Given the description of an element on the screen output the (x, y) to click on. 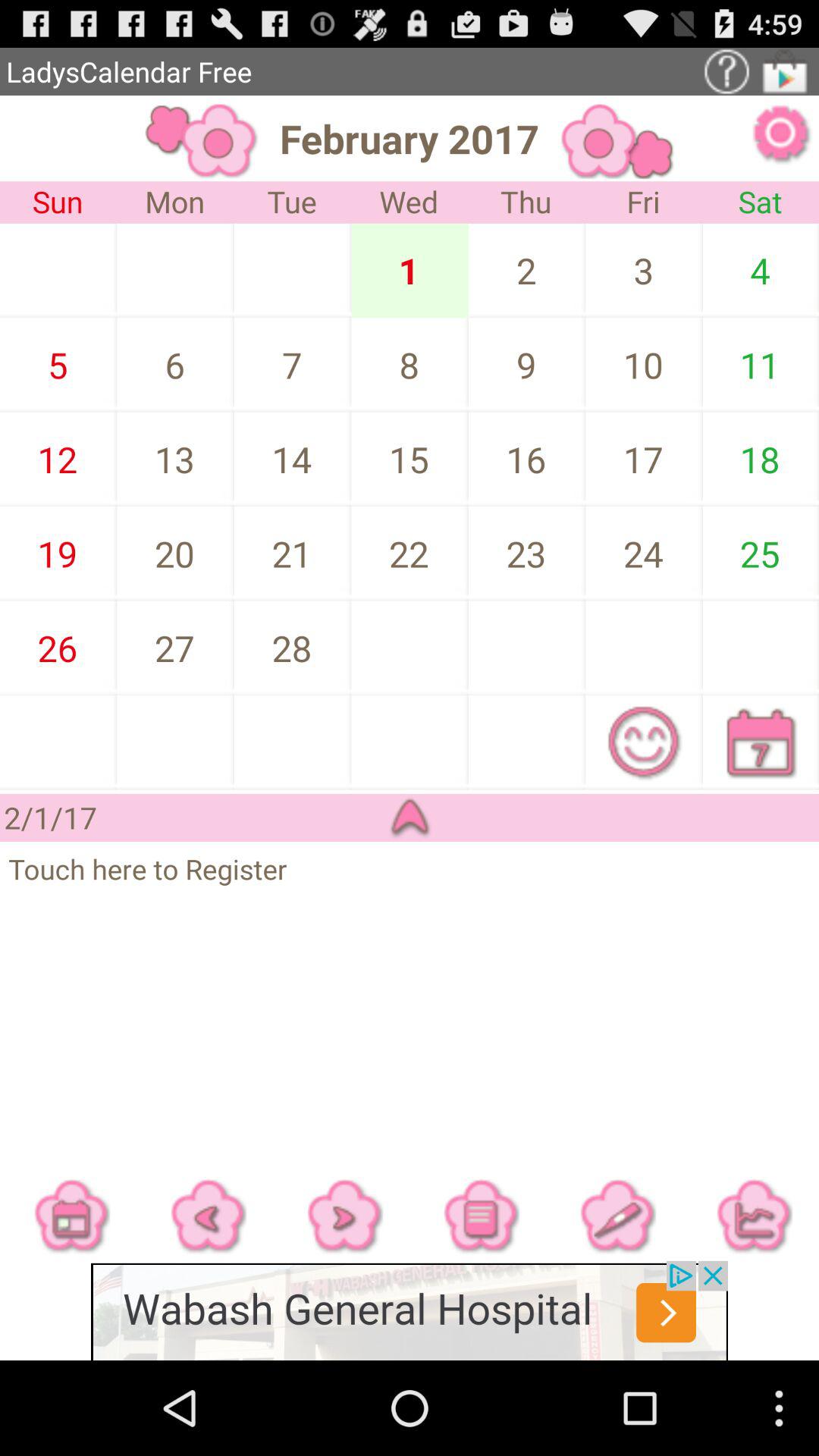
click on the date 16 (483, 459)
